Given the description of an element on the screen output the (x, y) to click on. 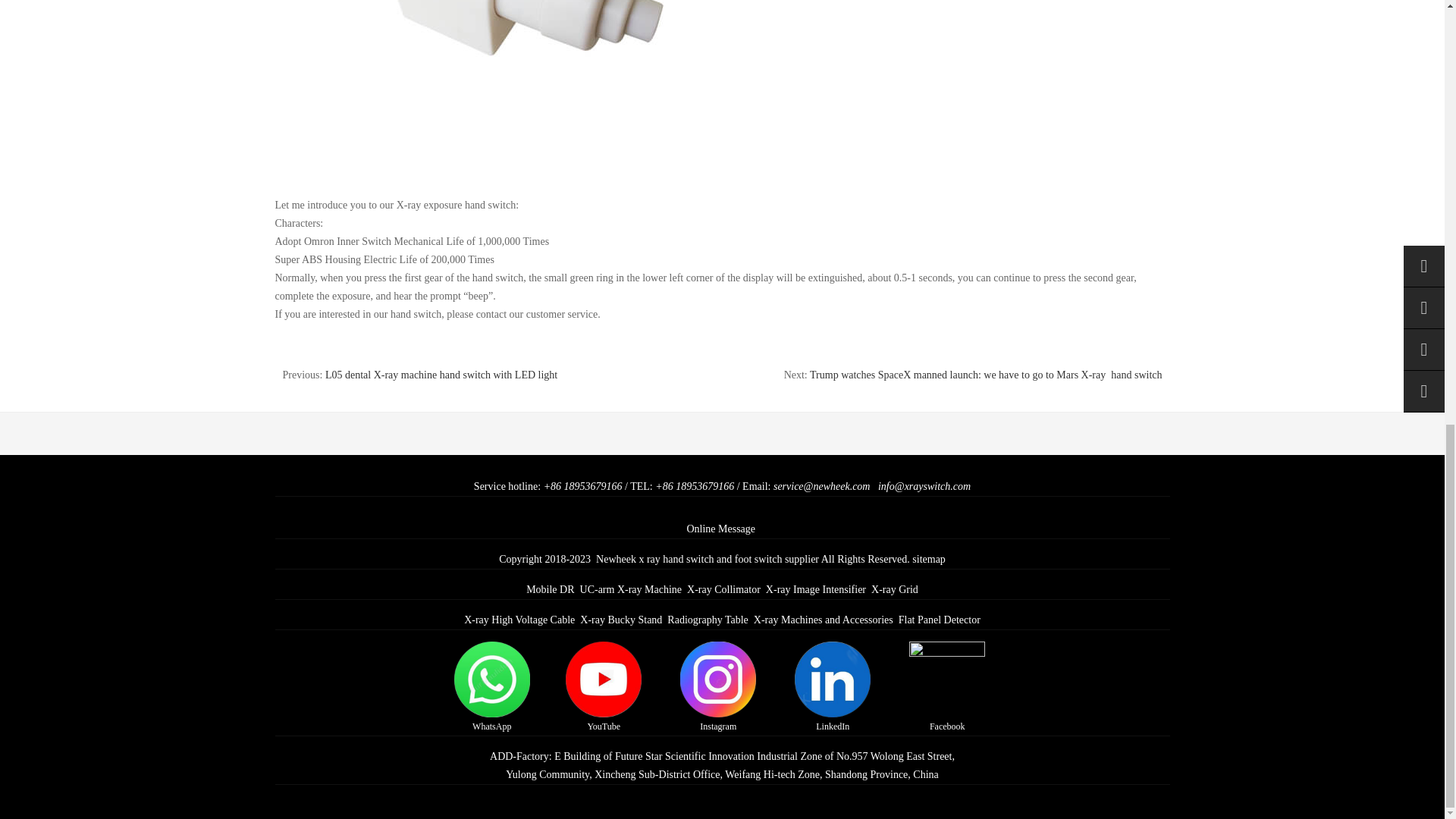
Online Message (720, 528)
L05 dental X-ray machine hand switch with LED light (440, 374)
Mobile DR (549, 589)
sitemap (928, 559)
